Given the description of an element on the screen output the (x, y) to click on. 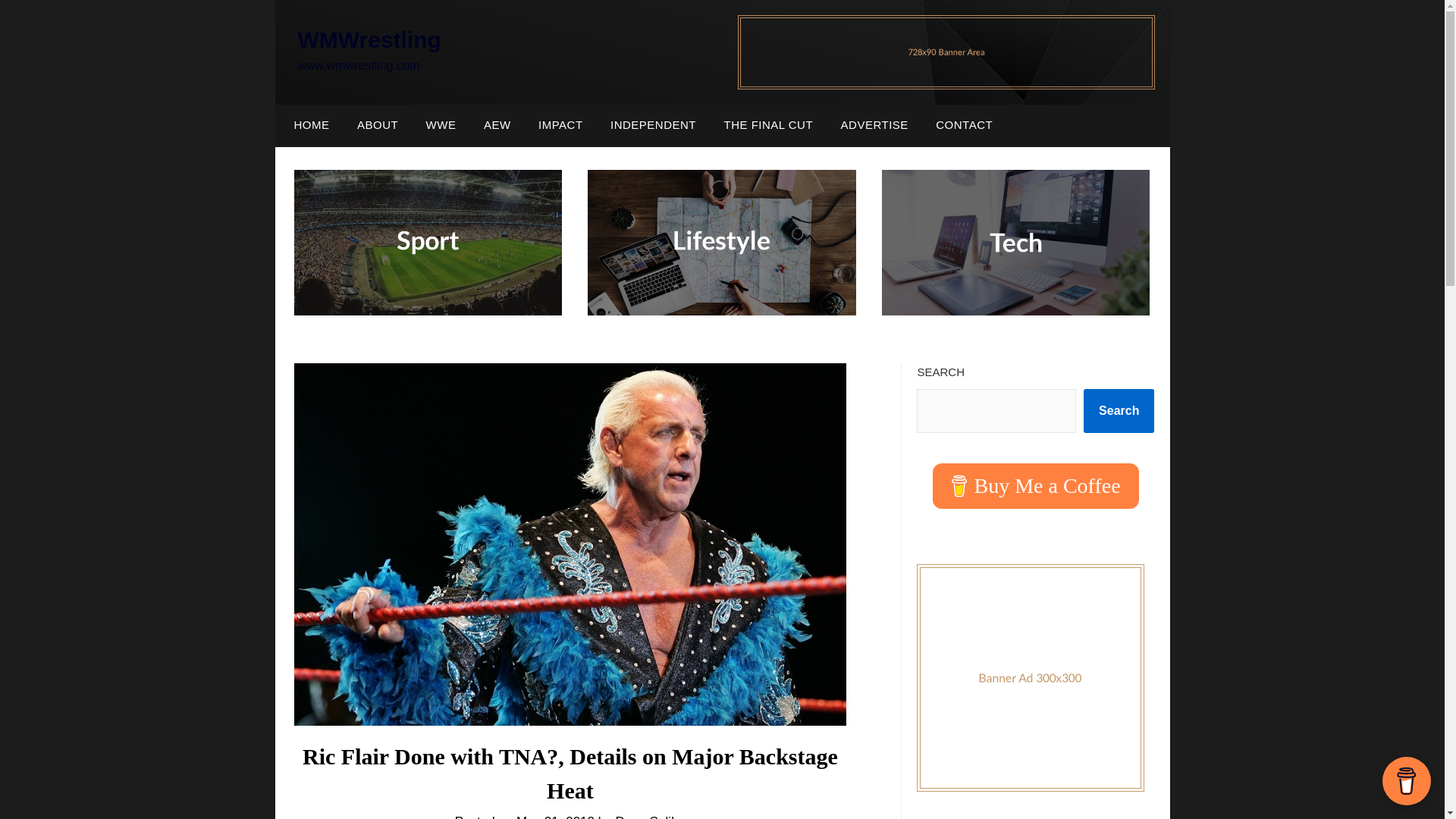
CONTACT (963, 124)
ADVERTISE (874, 124)
ABOUT (377, 124)
INDEPENDENT (652, 124)
THE FINAL CUT (768, 124)
HOME (307, 124)
May 21, 2012 (555, 816)
Dean Saliba (649, 816)
IMPACT (560, 124)
WWE (440, 124)
WMWrestling (369, 39)
Search (1118, 411)
AEW (496, 124)
Buy Me a Coffee (1035, 485)
